Given the description of an element on the screen output the (x, y) to click on. 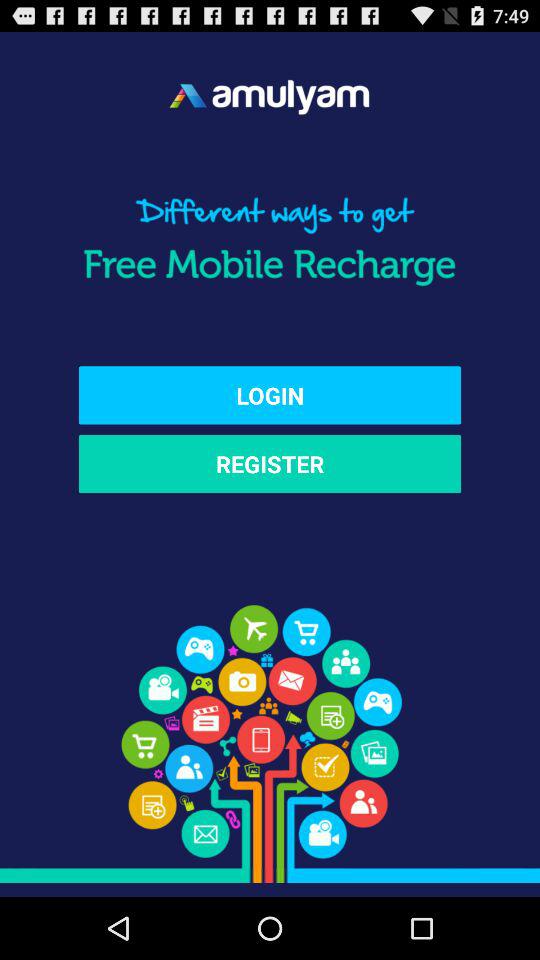
swipe until the register (269, 464)
